Given the description of an element on the screen output the (x, y) to click on. 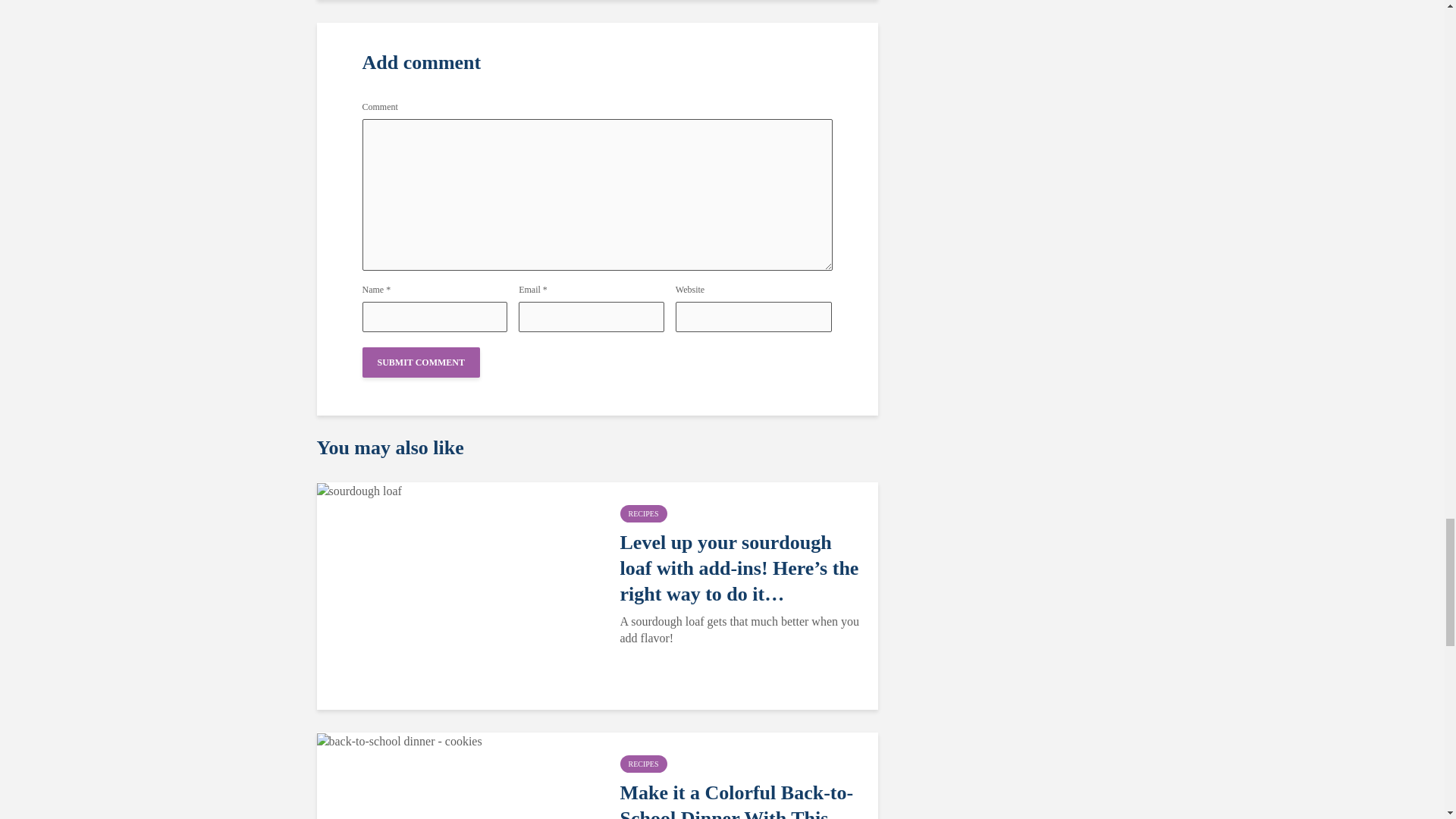
RECIPES (643, 513)
RECIPES (643, 764)
Submit Comment (421, 362)
Submit Comment (421, 362)
